Given the description of an element on the screen output the (x, y) to click on. 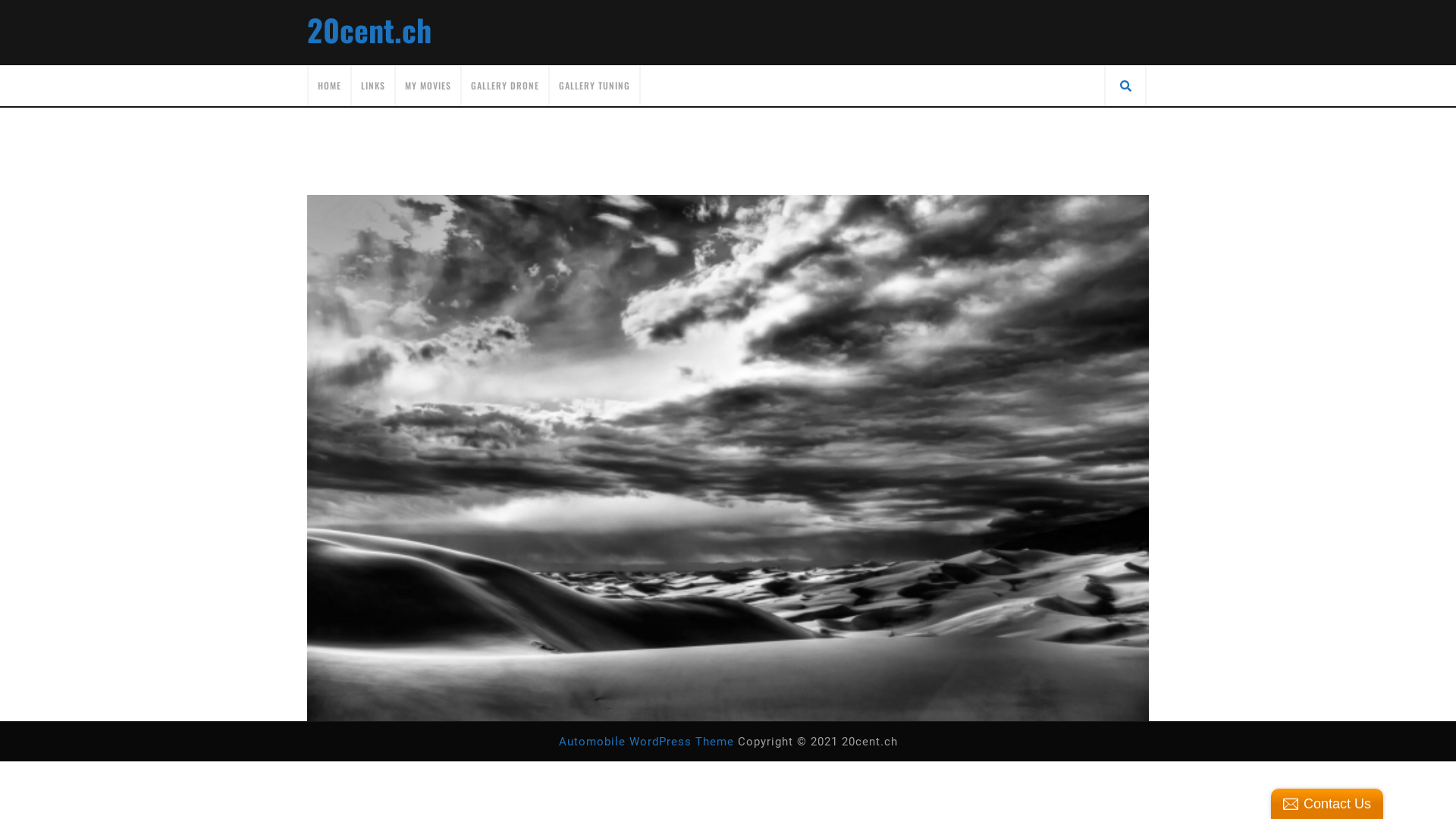
MY MOVIES Element type: text (427, 85)
HOME Element type: text (329, 85)
GALLERY DRONE Element type: text (504, 85)
LINKS Element type: text (372, 85)
Automobile WordPress Theme Element type: text (645, 741)
GALLERY TUNING Element type: text (594, 85)
20cent.ch Element type: text (369, 29)
